Given the description of an element on the screen output the (x, y) to click on. 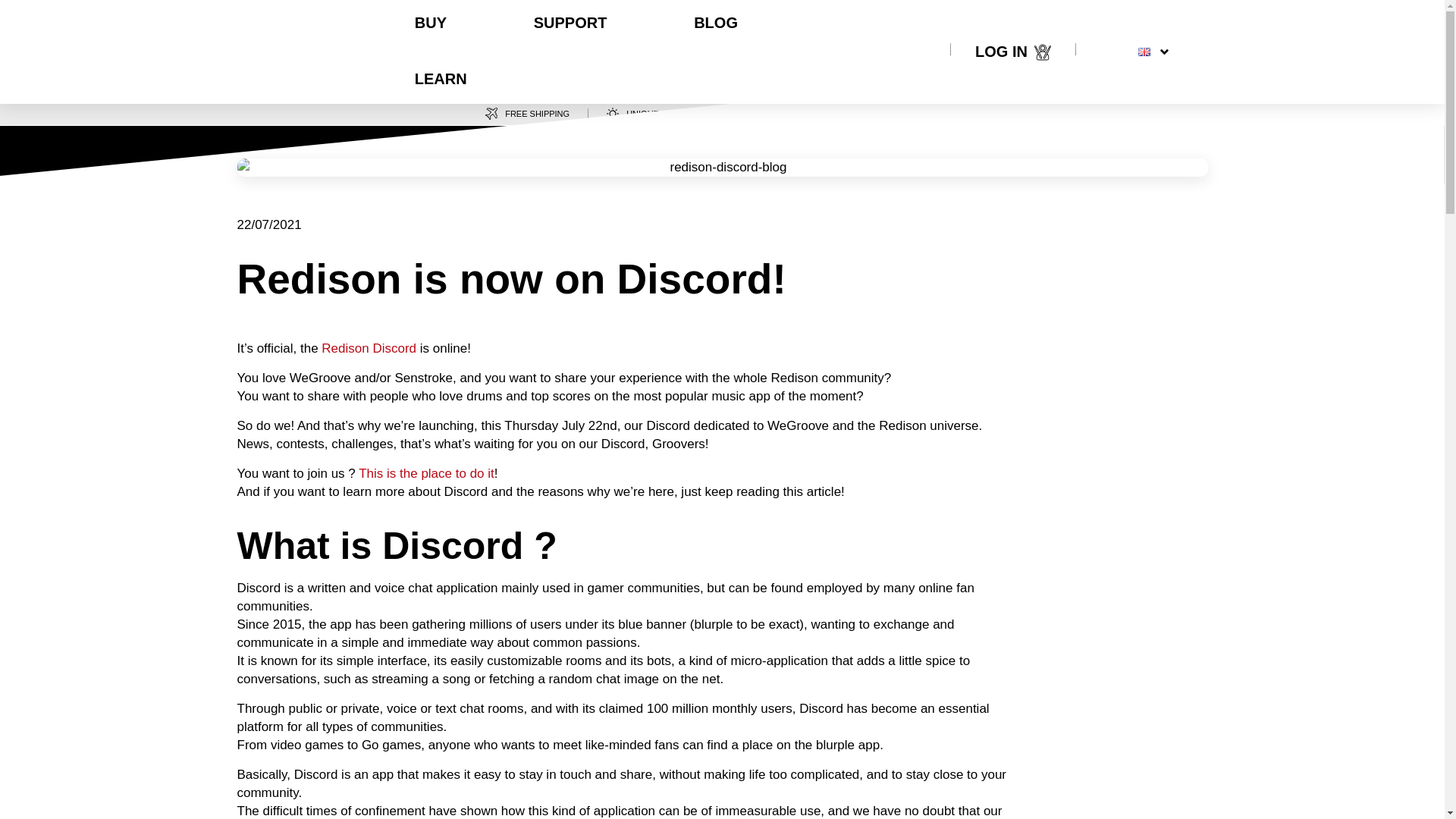
Redison Discord (368, 348)
Support (570, 23)
SUPPORT (570, 23)
Blog (716, 23)
BLOG (716, 23)
Buy (430, 23)
Learn (441, 77)
This is the place to do it (426, 473)
LOG IN (1001, 51)
BUY (430, 23)
